Given the description of an element on the screen output the (x, y) to click on. 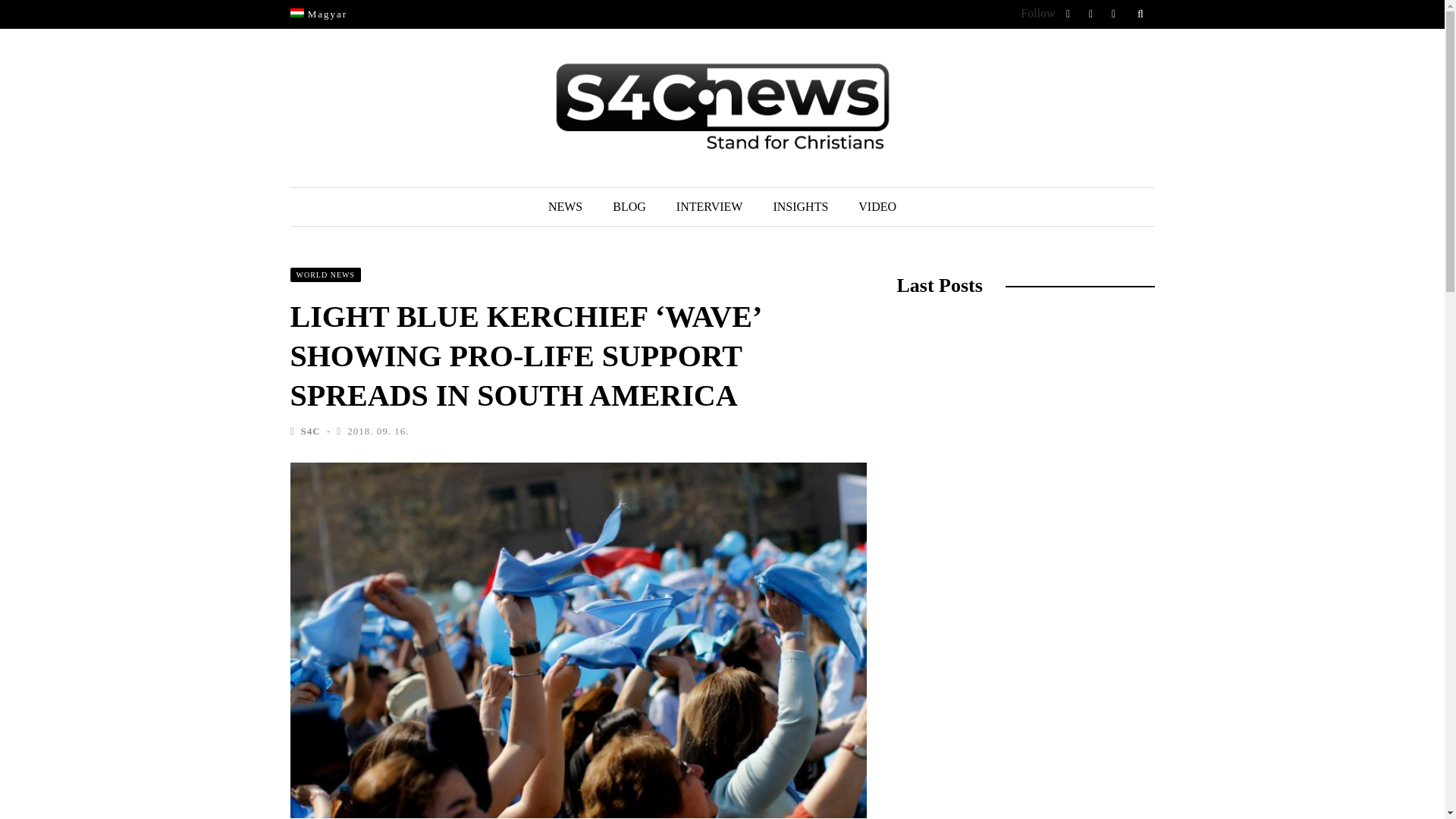
Follow (1037, 12)
WORLD NEWS (325, 274)
INSIGHTS (800, 207)
INTERVIEW (709, 207)
S4C (309, 430)
NEWS (564, 207)
VIDEO (877, 207)
Magyar (318, 13)
BLOG (628, 207)
Posts by S4C (309, 430)
